Given the description of an element on the screen output the (x, y) to click on. 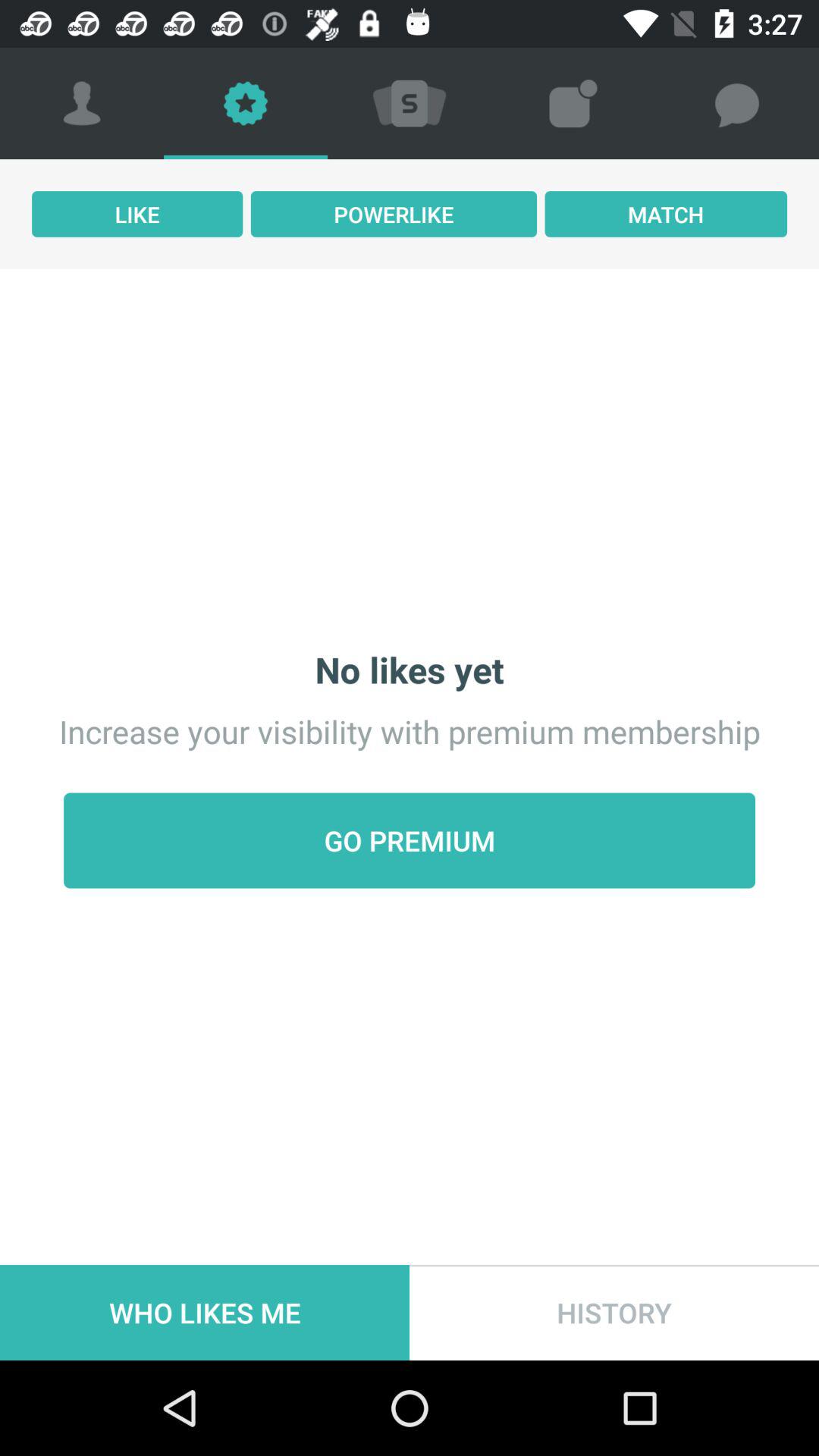
launch the icon to the left of history icon (204, 1312)
